Given the description of an element on the screen output the (x, y) to click on. 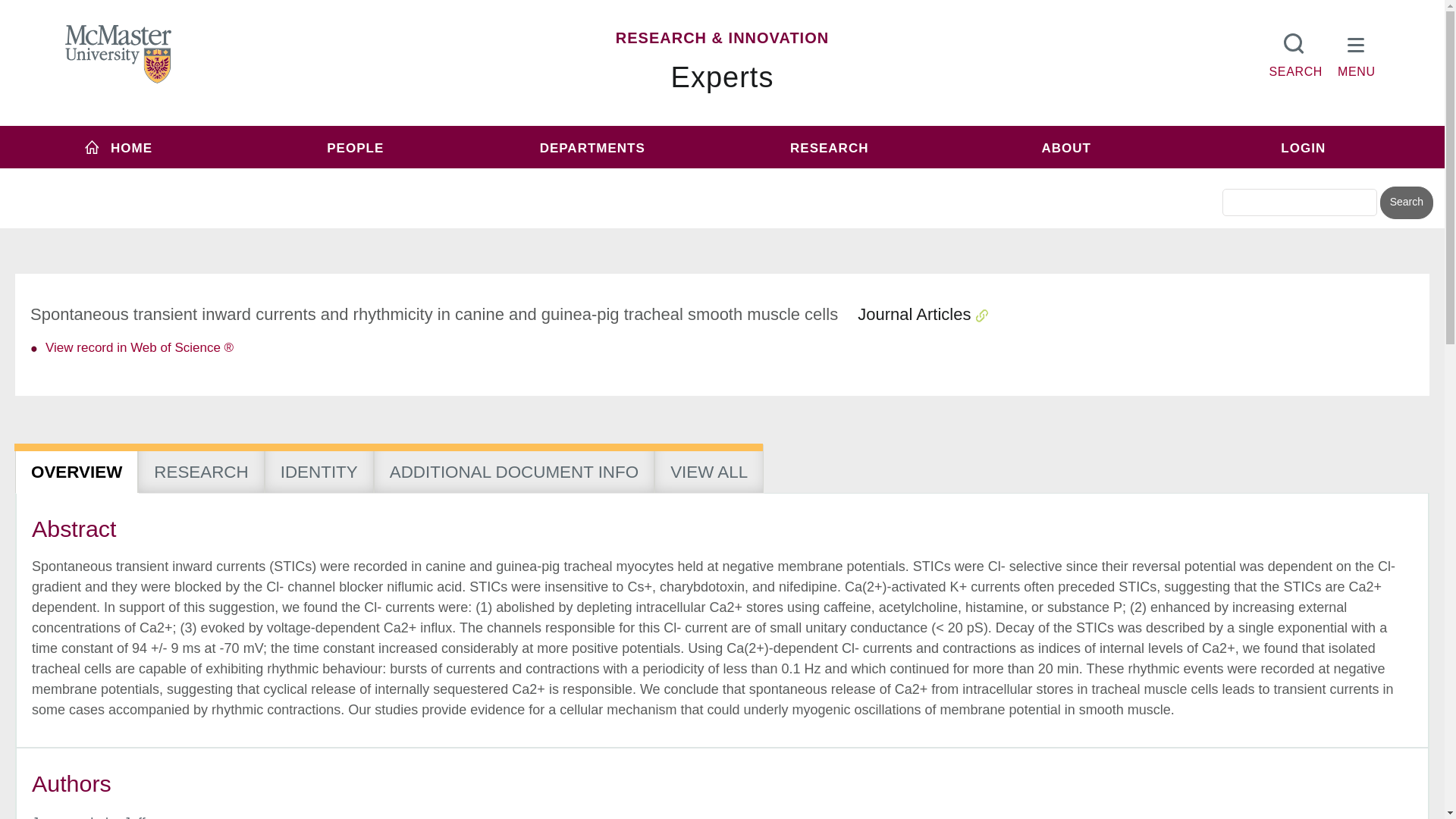
MCMASTER LOGO (118, 54)
inurl:mcmaster.ca (829, 175)
Research menu item (829, 147)
author name (98, 816)
McMaster Univeristy Logo (118, 54)
Departments menu item (592, 147)
Search (1406, 202)
Experts (722, 77)
Home menu item (118, 147)
inurl:experts.mcmaster.ca (601, 175)
People menu item (355, 147)
MENU (1356, 51)
About menu item (1066, 147)
SEARCH (1295, 51)
link text (138, 347)
